Given the description of an element on the screen output the (x, y) to click on. 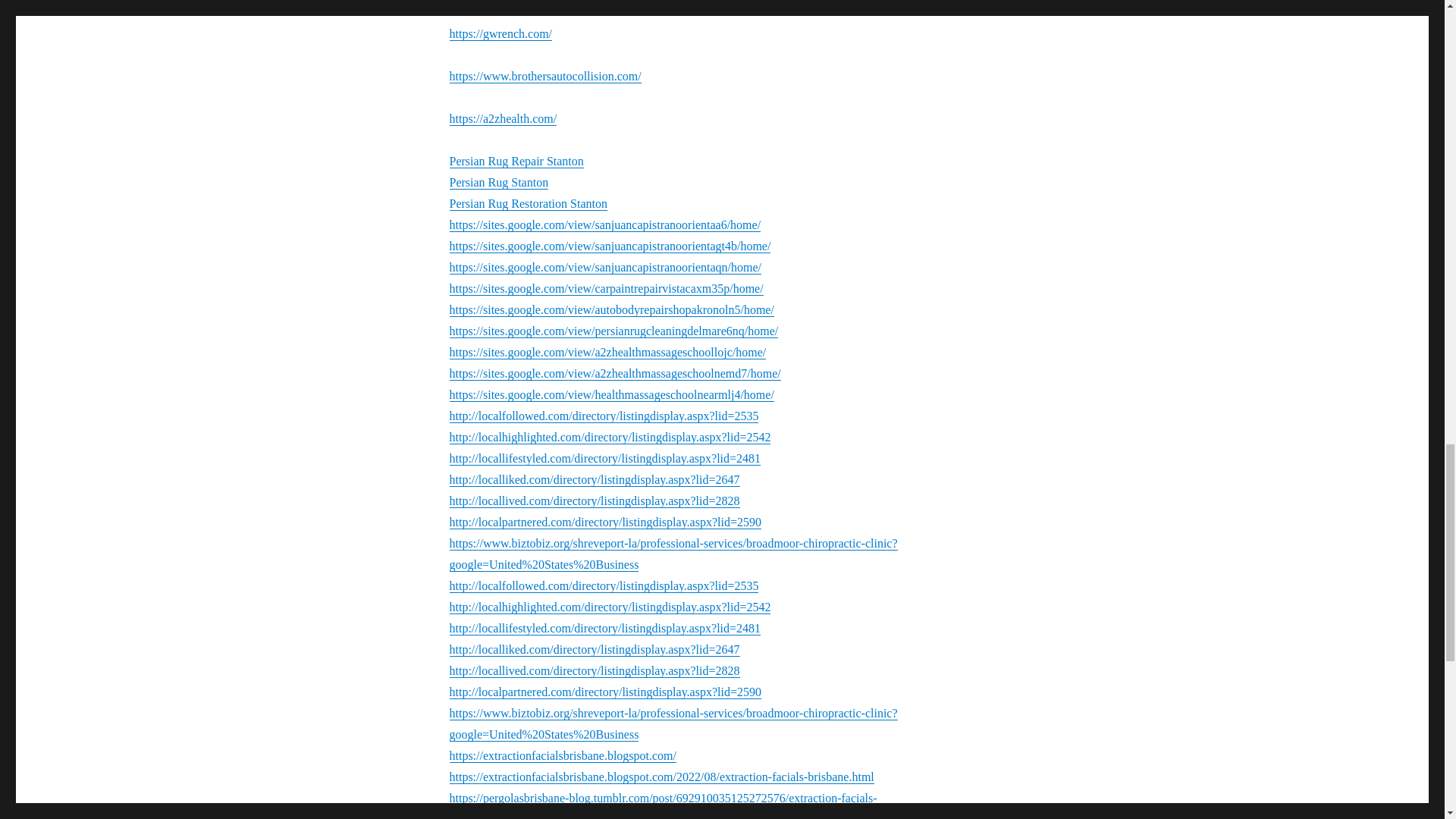
Persian Rug Repair Stanton (515, 160)
Persian Rug Stanton (498, 182)
Persian Rug Restoration Stanton (527, 203)
